Given the description of an element on the screen output the (x, y) to click on. 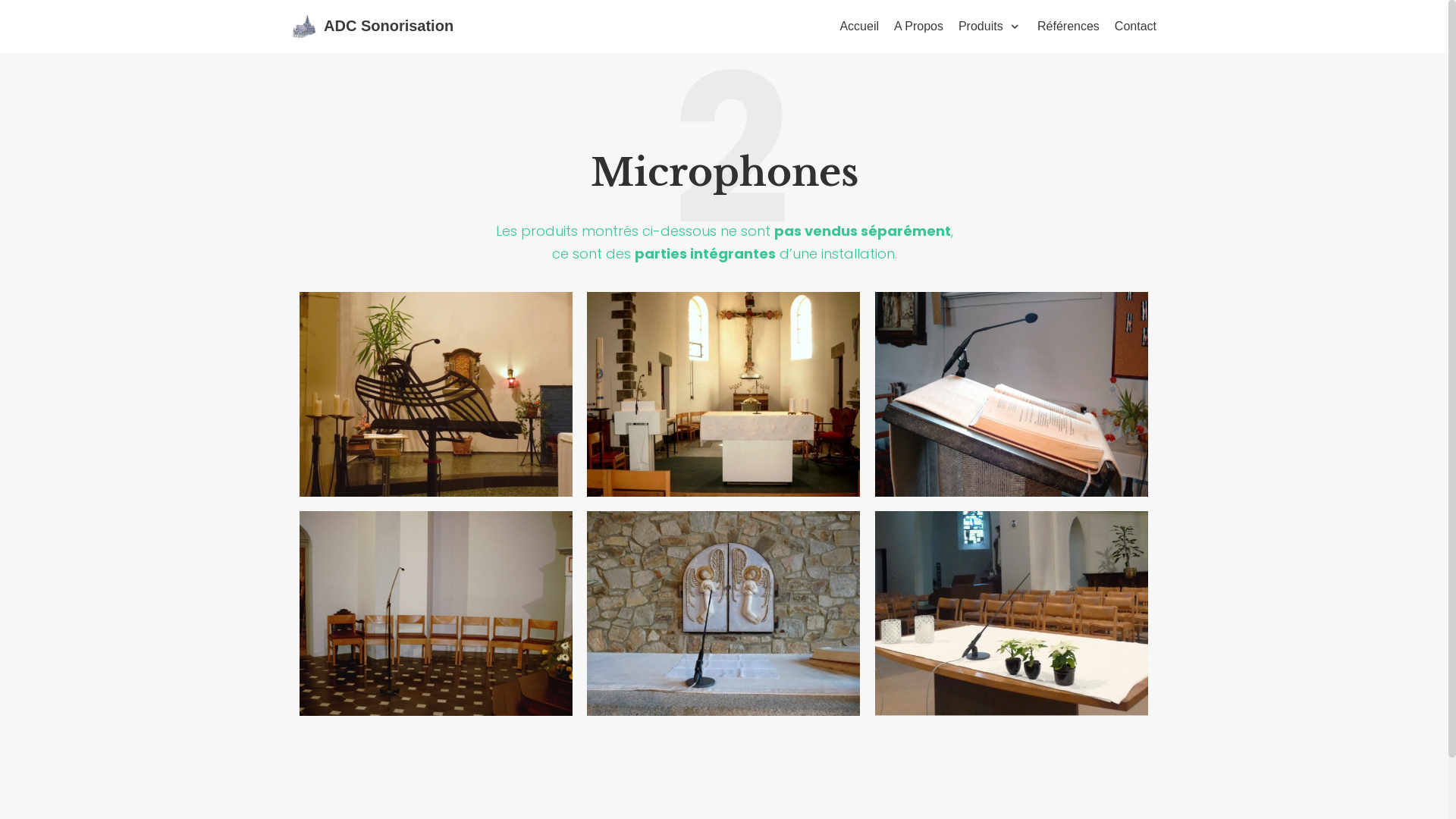
Produits Element type: text (990, 26)
Microphones-6-1 Element type: hover (1011, 613)
Microphones-4-1 Element type: hover (435, 613)
A Propos Element type: text (918, 26)
Microphones-5-1 Element type: hover (722, 613)
Microphones-2-1 Element type: hover (722, 393)
ADC Sonorisation Element type: text (372, 26)
Contact Element type: text (1135, 26)
Accueil Element type: text (858, 26)
Microphones-3-1 Element type: hover (1011, 393)
Skip to content Element type: text (15, 31)
Microphones-1-2 Element type: hover (435, 393)
